Given the description of an element on the screen output the (x, y) to click on. 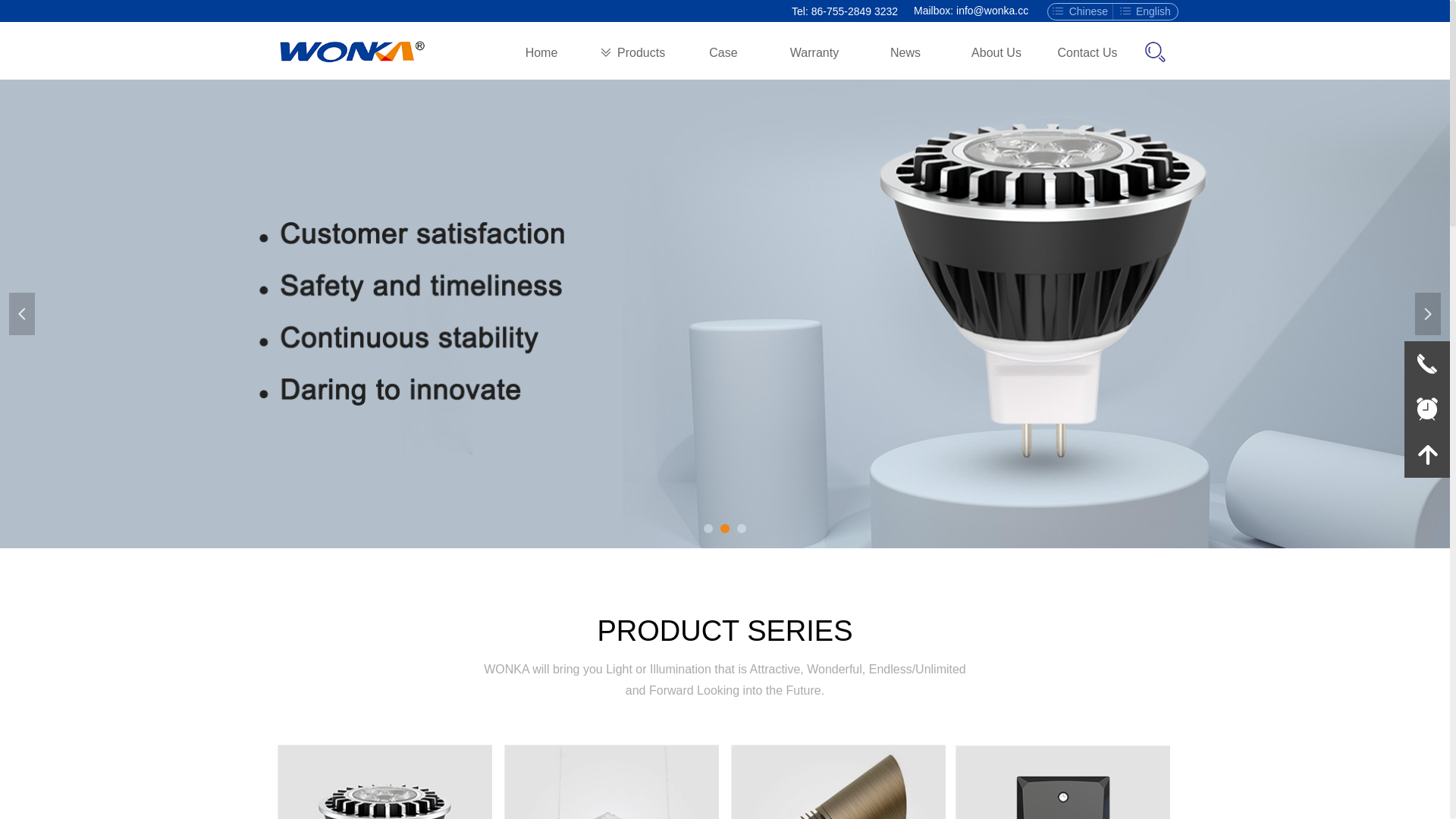
Contact Us Element type: text (1086, 52)
Home Element type: text (540, 52)
Warranty Element type: text (813, 52)
About Us Element type: text (995, 52)
News Element type: text (904, 52)
Case Element type: text (722, 52)
